Given the description of an element on the screen output the (x, y) to click on. 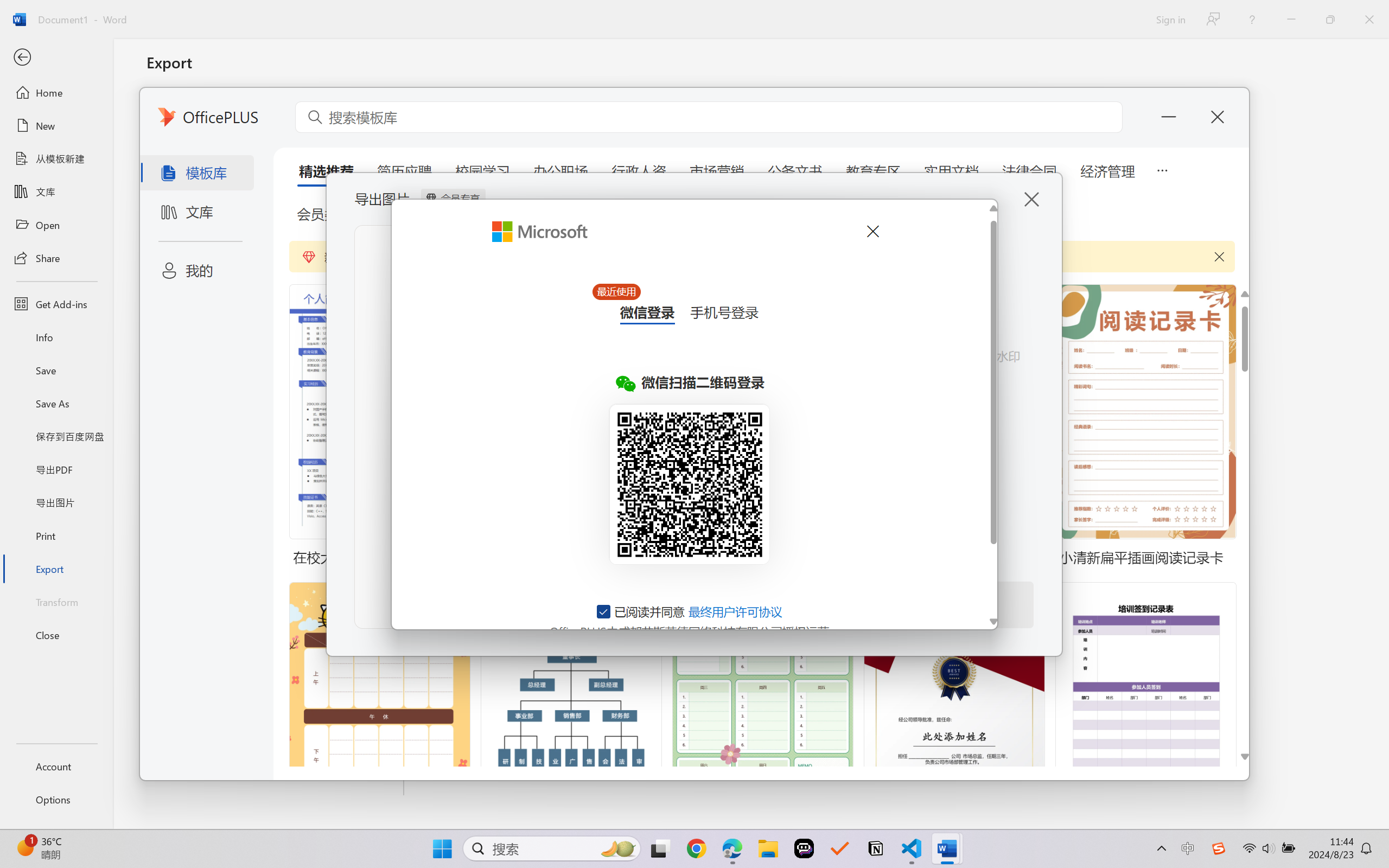
Back (56, 57)
Transform (56, 601)
